Given the description of an element on the screen output the (x, y) to click on. 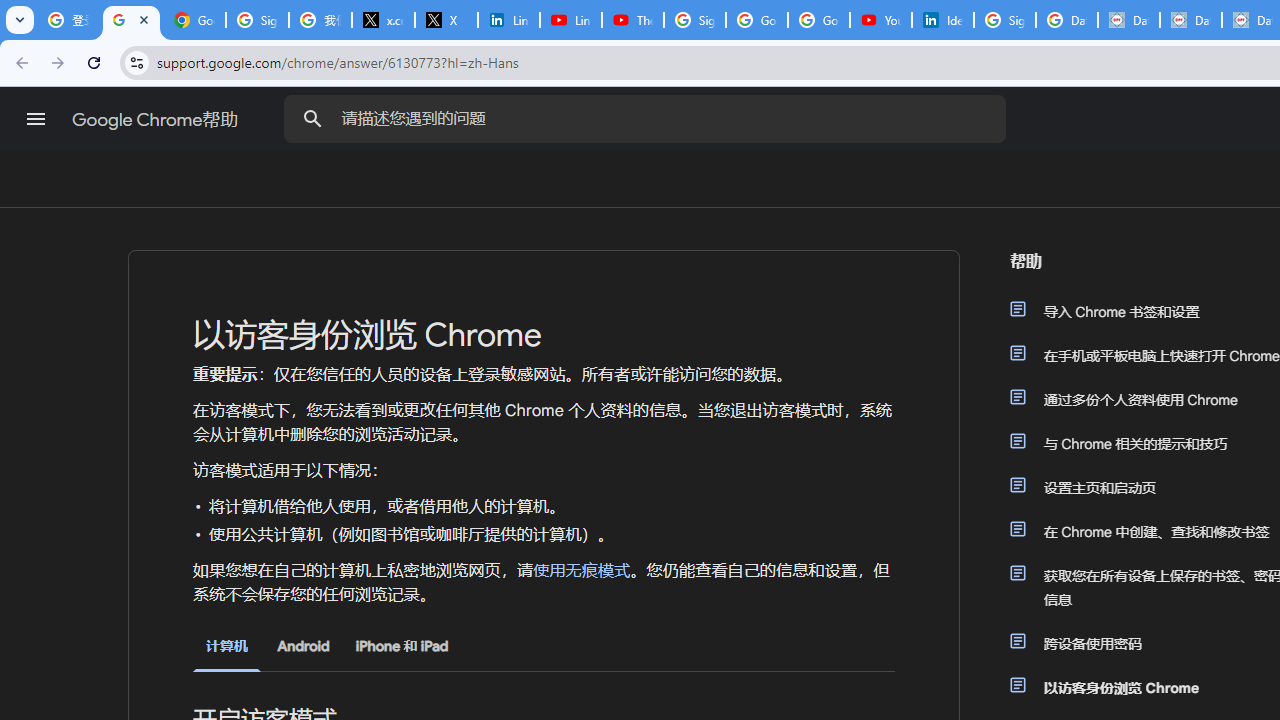
Android (303, 646)
LinkedIn Privacy Policy (508, 20)
Data Privacy Framework (1128, 20)
Data Privacy Framework (1190, 20)
LinkedIn - YouTube (570, 20)
Sign in - Google Accounts (694, 20)
